Given the description of an element on the screen output the (x, y) to click on. 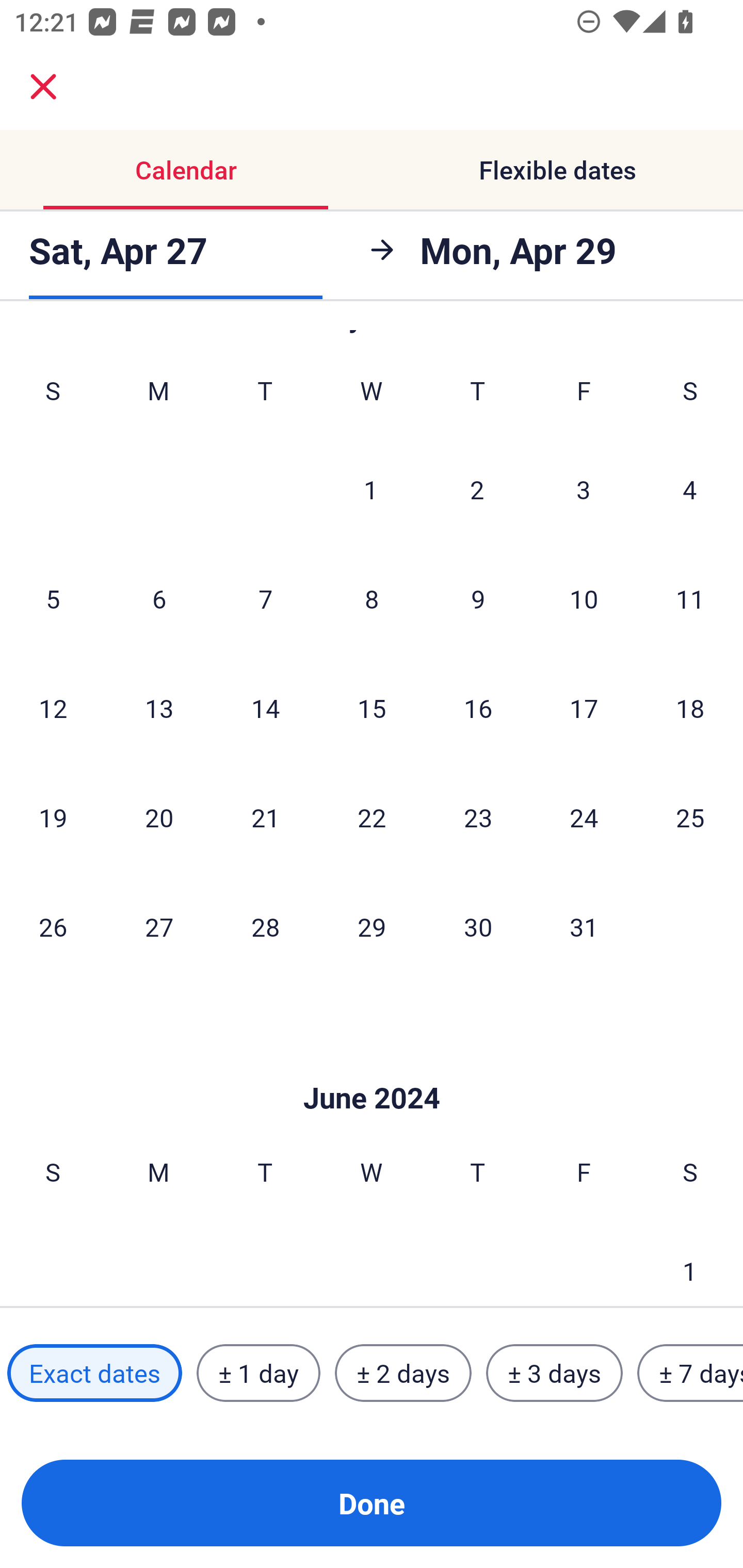
close. (43, 86)
Flexible dates (557, 170)
1 Wednesday, May 1, 2024 (371, 488)
2 Thursday, May 2, 2024 (477, 488)
3 Friday, May 3, 2024 (583, 488)
4 Saturday, May 4, 2024 (689, 488)
5 Sunday, May 5, 2024 (53, 597)
6 Monday, May 6, 2024 (159, 597)
7 Tuesday, May 7, 2024 (265, 597)
8 Wednesday, May 8, 2024 (371, 597)
9 Thursday, May 9, 2024 (477, 597)
10 Friday, May 10, 2024 (584, 597)
11 Saturday, May 11, 2024 (690, 597)
12 Sunday, May 12, 2024 (53, 707)
13 Monday, May 13, 2024 (159, 707)
14 Tuesday, May 14, 2024 (265, 707)
15 Wednesday, May 15, 2024 (371, 707)
16 Thursday, May 16, 2024 (477, 707)
17 Friday, May 17, 2024 (584, 707)
18 Saturday, May 18, 2024 (690, 707)
19 Sunday, May 19, 2024 (53, 817)
20 Monday, May 20, 2024 (159, 817)
21 Tuesday, May 21, 2024 (265, 817)
22 Wednesday, May 22, 2024 (371, 817)
23 Thursday, May 23, 2024 (477, 817)
24 Friday, May 24, 2024 (584, 817)
25 Saturday, May 25, 2024 (690, 817)
26 Sunday, May 26, 2024 (53, 926)
27 Monday, May 27, 2024 (159, 926)
28 Tuesday, May 28, 2024 (265, 926)
29 Wednesday, May 29, 2024 (371, 926)
30 Thursday, May 30, 2024 (477, 926)
31 Friday, May 31, 2024 (584, 926)
Skip to Done (371, 1066)
1 Saturday, June 1, 2024 (689, 1262)
Exact dates (94, 1372)
± 1 day (258, 1372)
± 2 days (403, 1372)
± 3 days (553, 1372)
± 7 days (690, 1372)
Done (371, 1502)
